Given the description of an element on the screen output the (x, y) to click on. 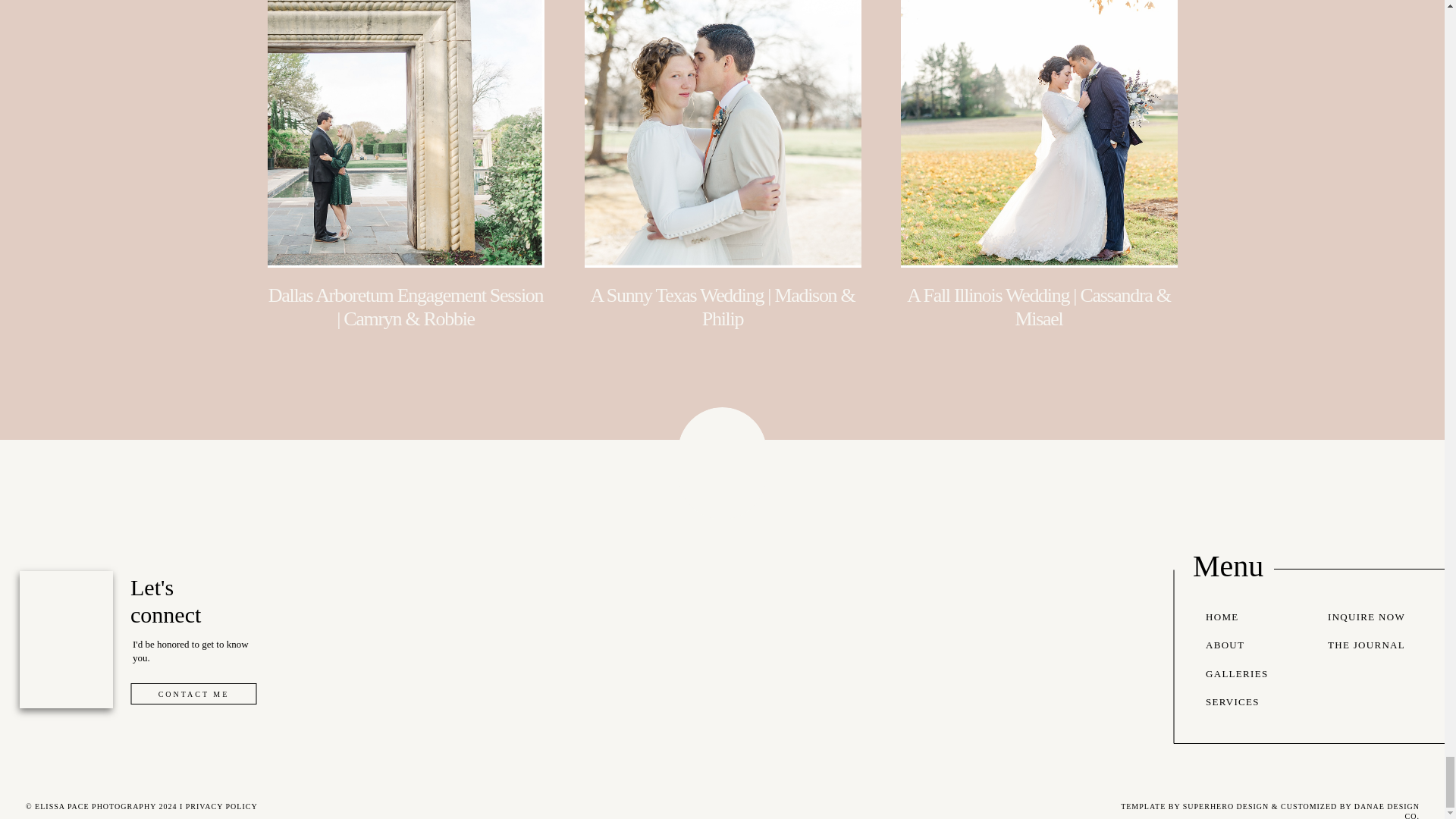
INQUIRE NOW (1370, 617)
CONTACT ME (193, 693)
THE JOURNAL (1370, 645)
GALLERIES (1248, 674)
HOME (1248, 617)
SERVICES (1248, 702)
ABOUT (1248, 645)
